Given the description of an element on the screen output the (x, y) to click on. 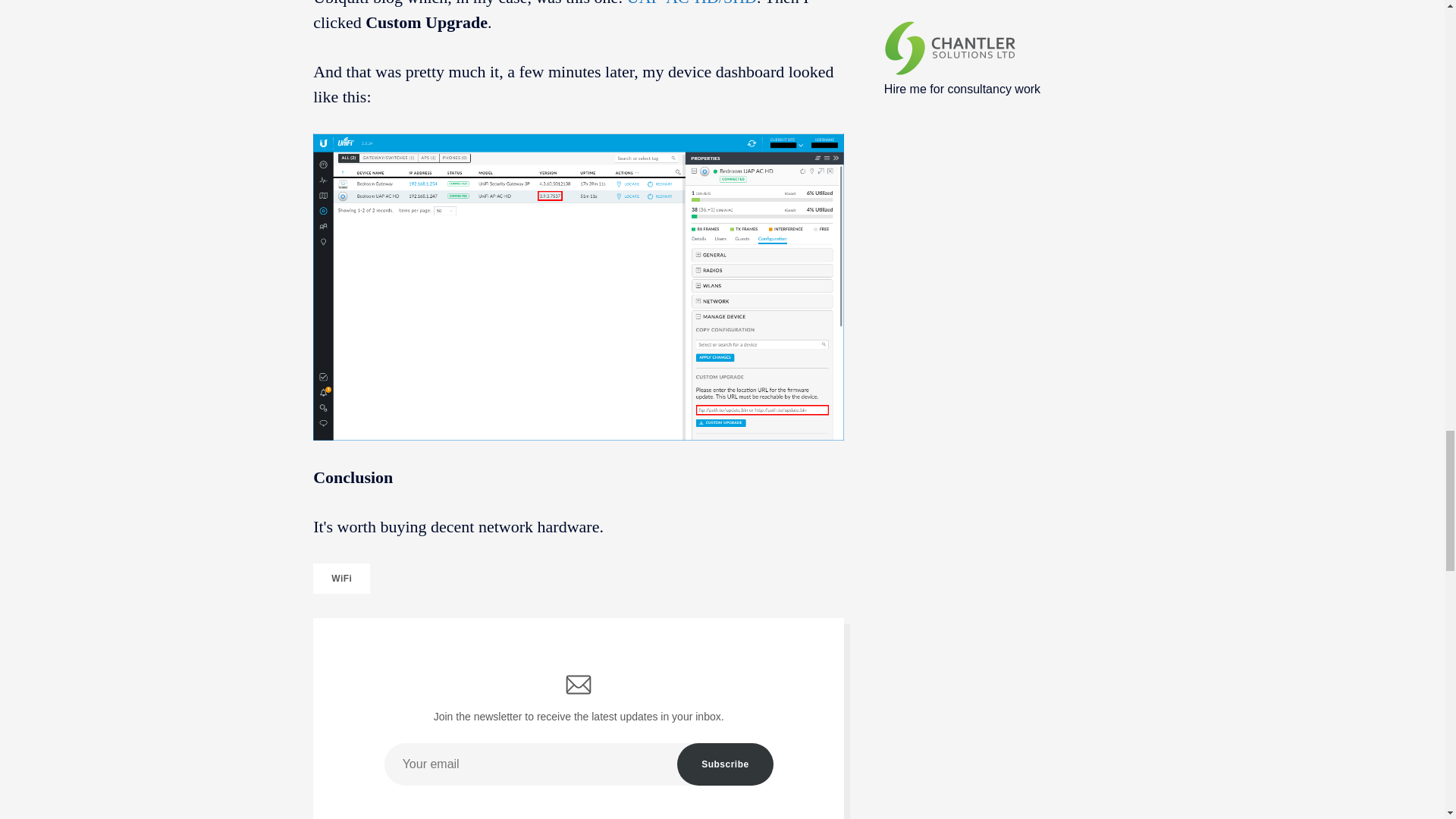
Subscribe (725, 763)
WiFi (341, 578)
